Given the description of an element on the screen output the (x, y) to click on. 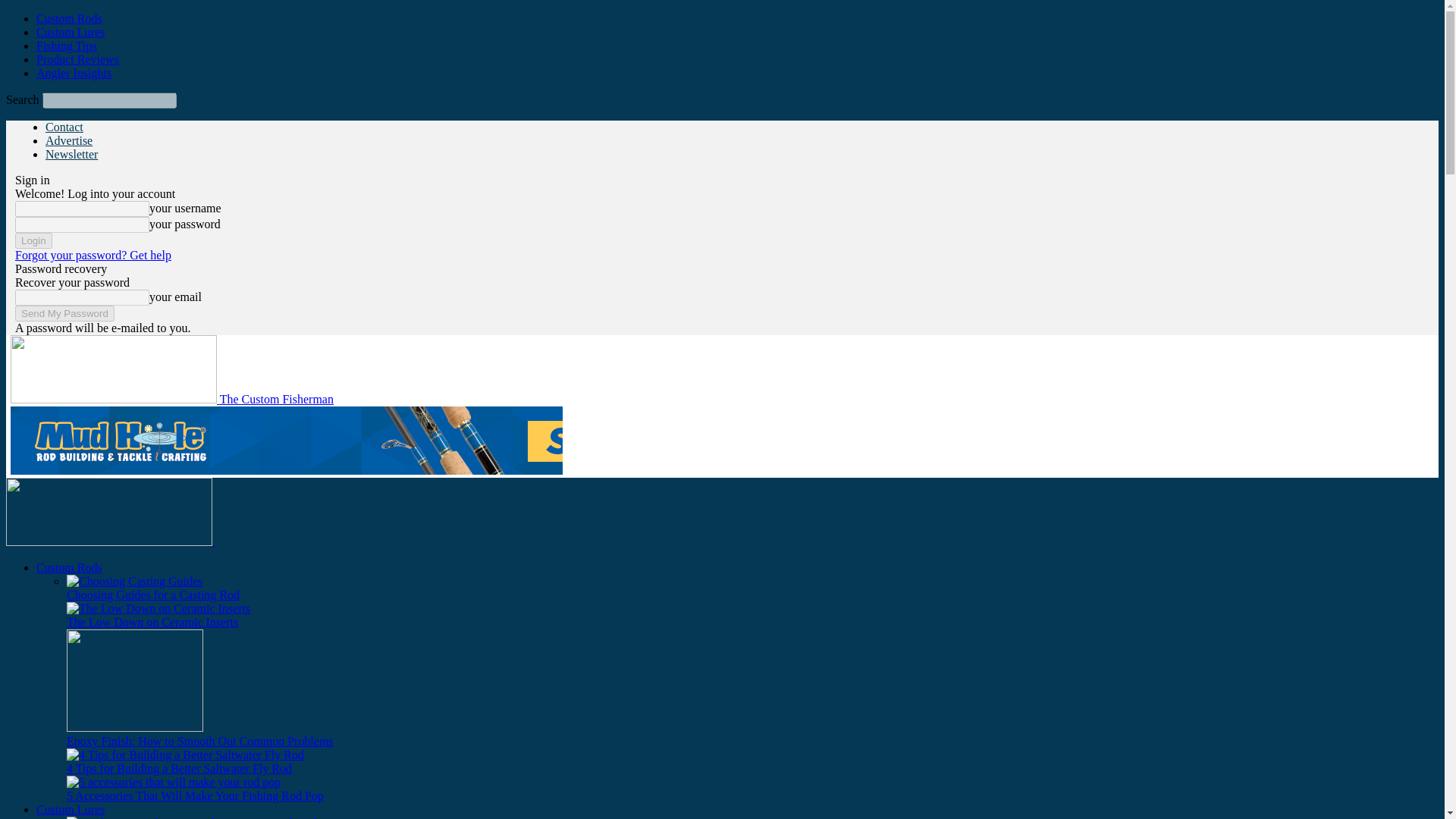
The Low Down on Ceramic Inserts (152, 621)
The Low Down on Ceramic Inserts (152, 621)
Advertise (69, 140)
5 Accessories That Will Make Your Fishing Rod Pop (194, 795)
Epoxy Finish: How to Smooth Out Common Problems (199, 740)
Custom Rods (68, 18)
The Low Down on Ceramic Inserts (158, 608)
Custom Rods (68, 567)
Choosing Guides for a Casting Rod (134, 581)
Choosing Guides for a Casting Rod (153, 594)
